Given the description of an element on the screen output the (x, y) to click on. 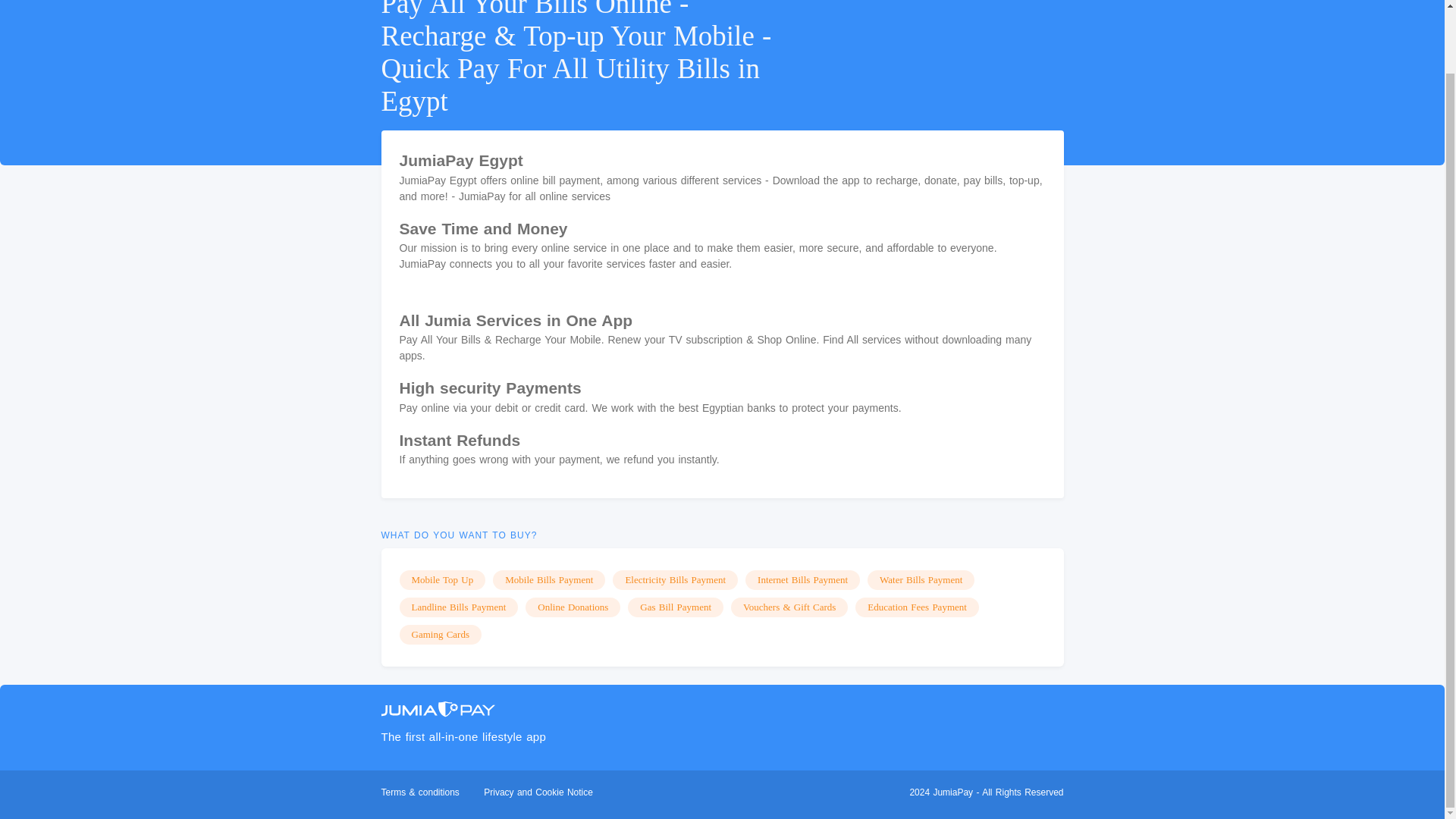
Privacy and Cookie Notice (537, 792)
Water Bills Payment (920, 579)
Water Bills Payment (920, 579)
Landline Bills Payment (458, 607)
Gaming Cards (439, 634)
Gaming Cards (439, 634)
Education Fees Payment (917, 607)
Mobile Bills Payment (549, 579)
JumiaPay (437, 709)
Gas Bill Payment (675, 607)
Mobile Top Up (441, 579)
Online Donations (572, 607)
Internet Bills Payment (802, 579)
Internet Bills Payment (802, 579)
Electricity Bills Payment (675, 579)
